Given the description of an element on the screen output the (x, y) to click on. 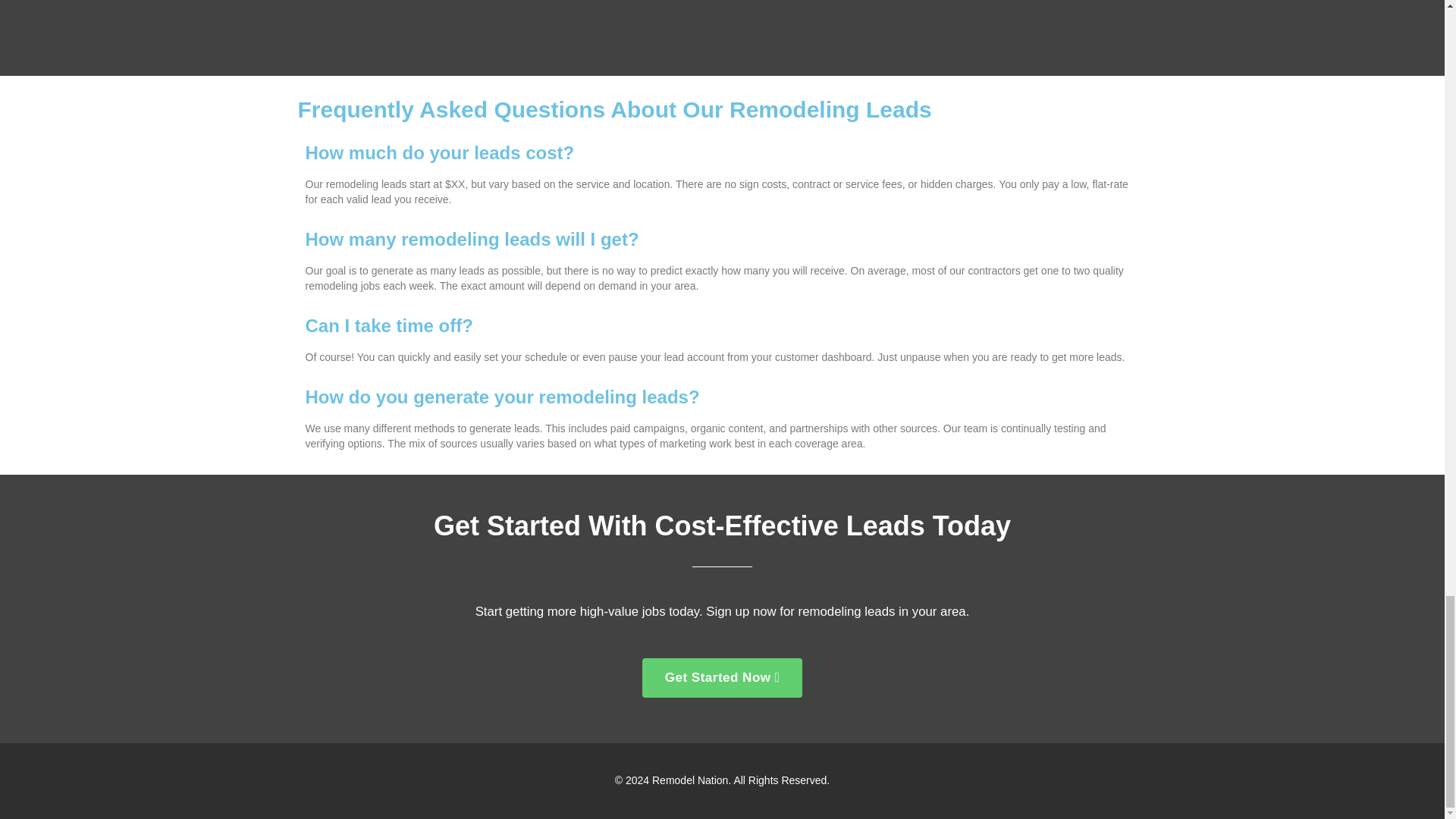
Get Started Now (722, 677)
